Given the description of an element on the screen output the (x, y) to click on. 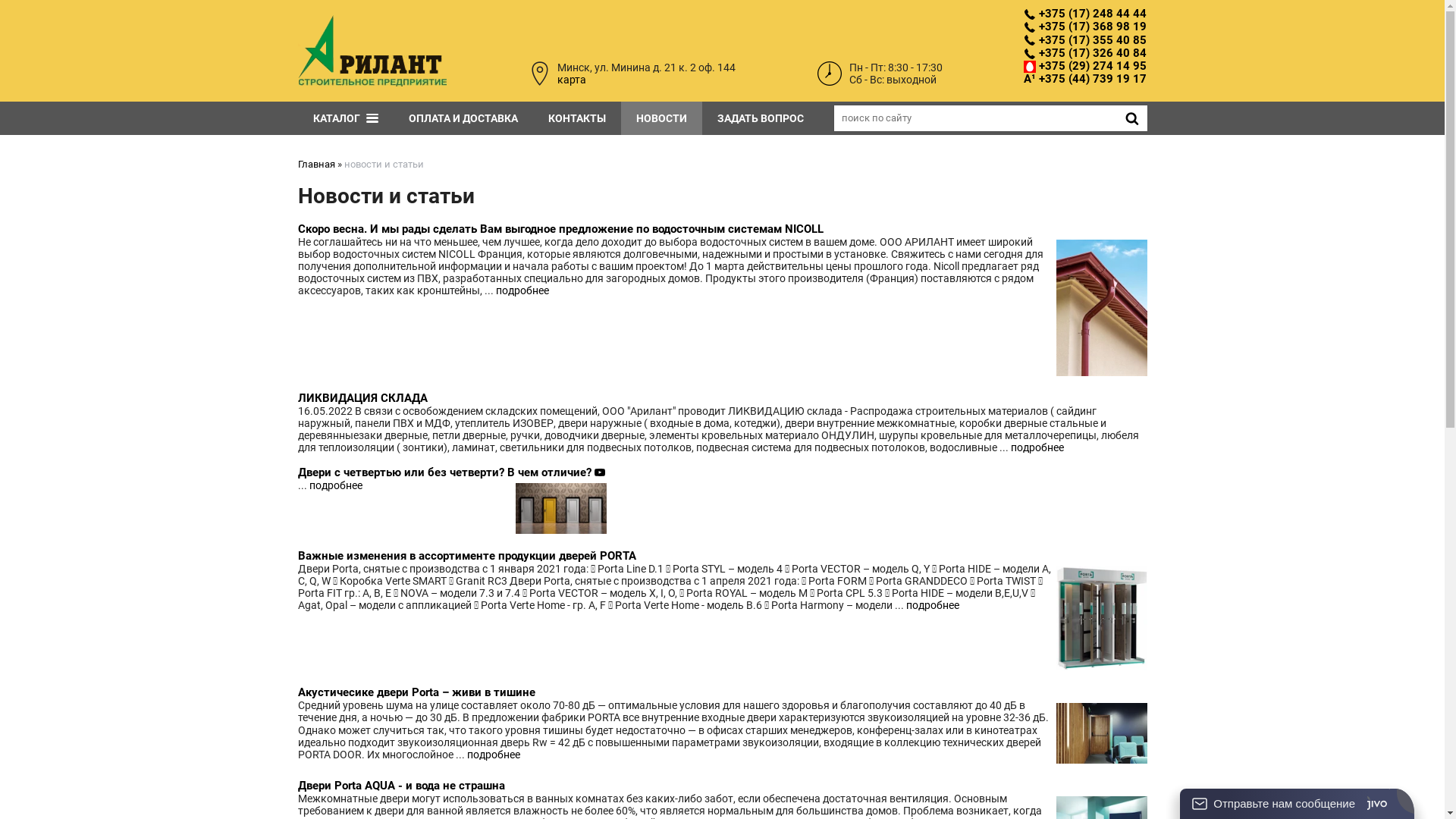
+375 (17) 248 44 44 Element type: text (1084, 13)
+375 (17) 355 40 85 Element type: text (1084, 39)
+375 (17) 326 40 84 Element type: text (1084, 53)
+375 (29) 274 14 95 Element type: text (1084, 65)
+375 (17) 368 98 19 Element type: text (1084, 26)
